Given the description of an element on the screen output the (x, y) to click on. 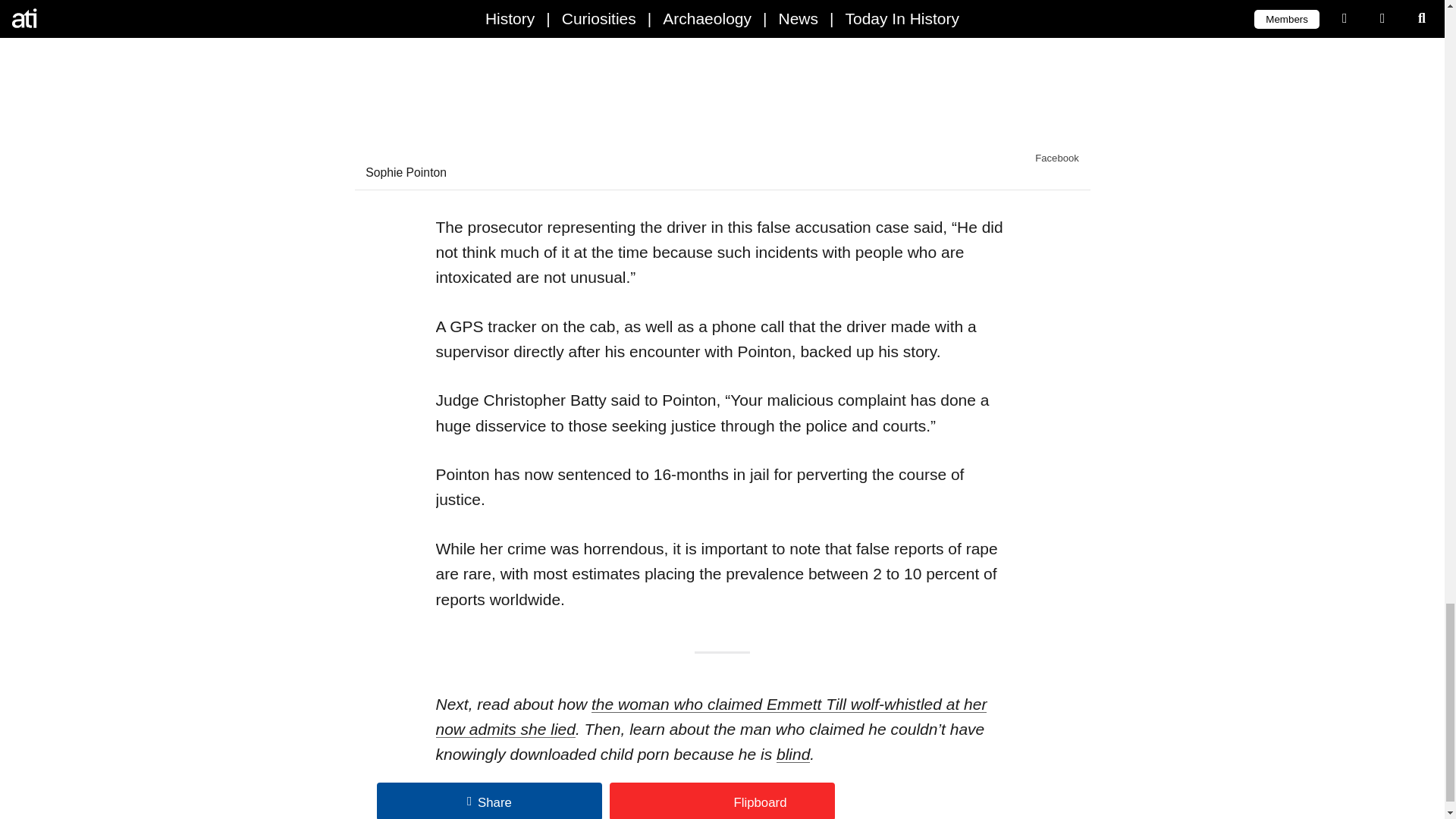
blind (792, 753)
Share (489, 800)
Flipboard (722, 800)
